Given the description of an element on the screen output the (x, y) to click on. 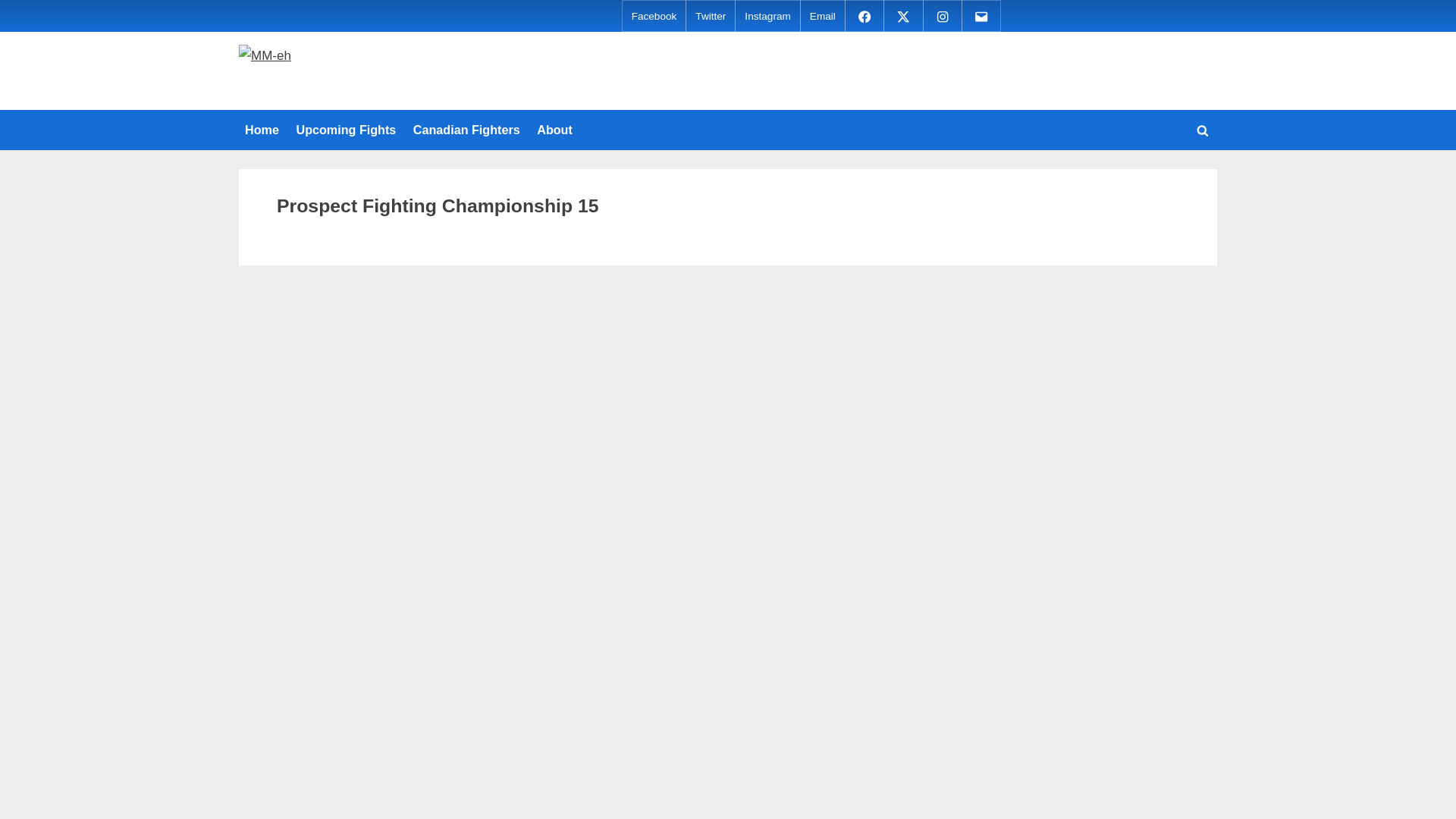
Canadian Fighters (466, 130)
Toggle search form (1202, 129)
Email (981, 15)
Twitter (710, 16)
Instagram (942, 15)
Email (822, 16)
Facebook (654, 16)
Twitter (902, 15)
Instagram (767, 16)
Home (261, 130)
MM-eh (319, 84)
Facebook (864, 15)
Upcoming Fights (345, 130)
About (554, 130)
